Given the description of an element on the screen output the (x, y) to click on. 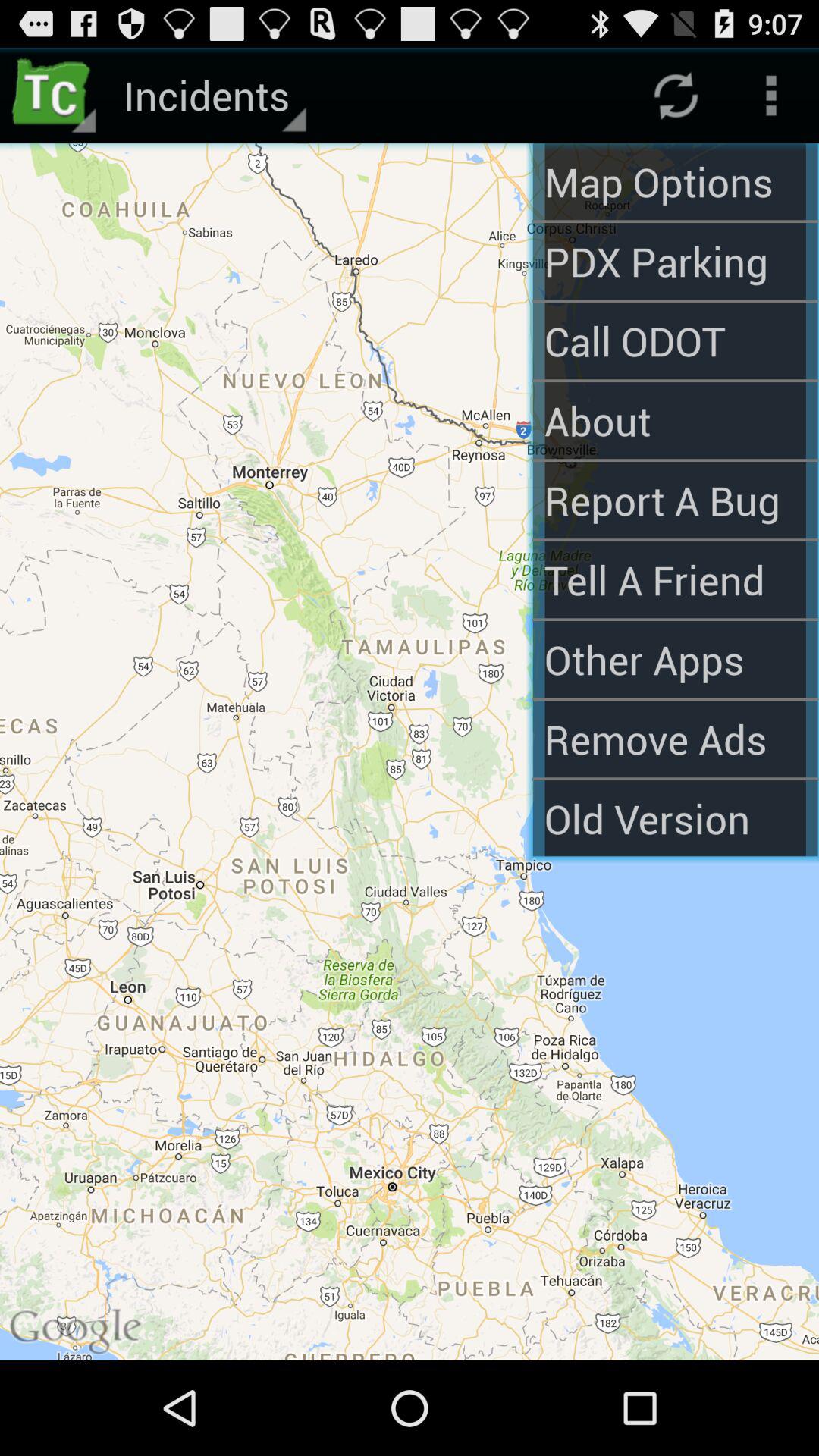
tap incidents app (212, 95)
